Given the description of an element on the screen output the (x, y) to click on. 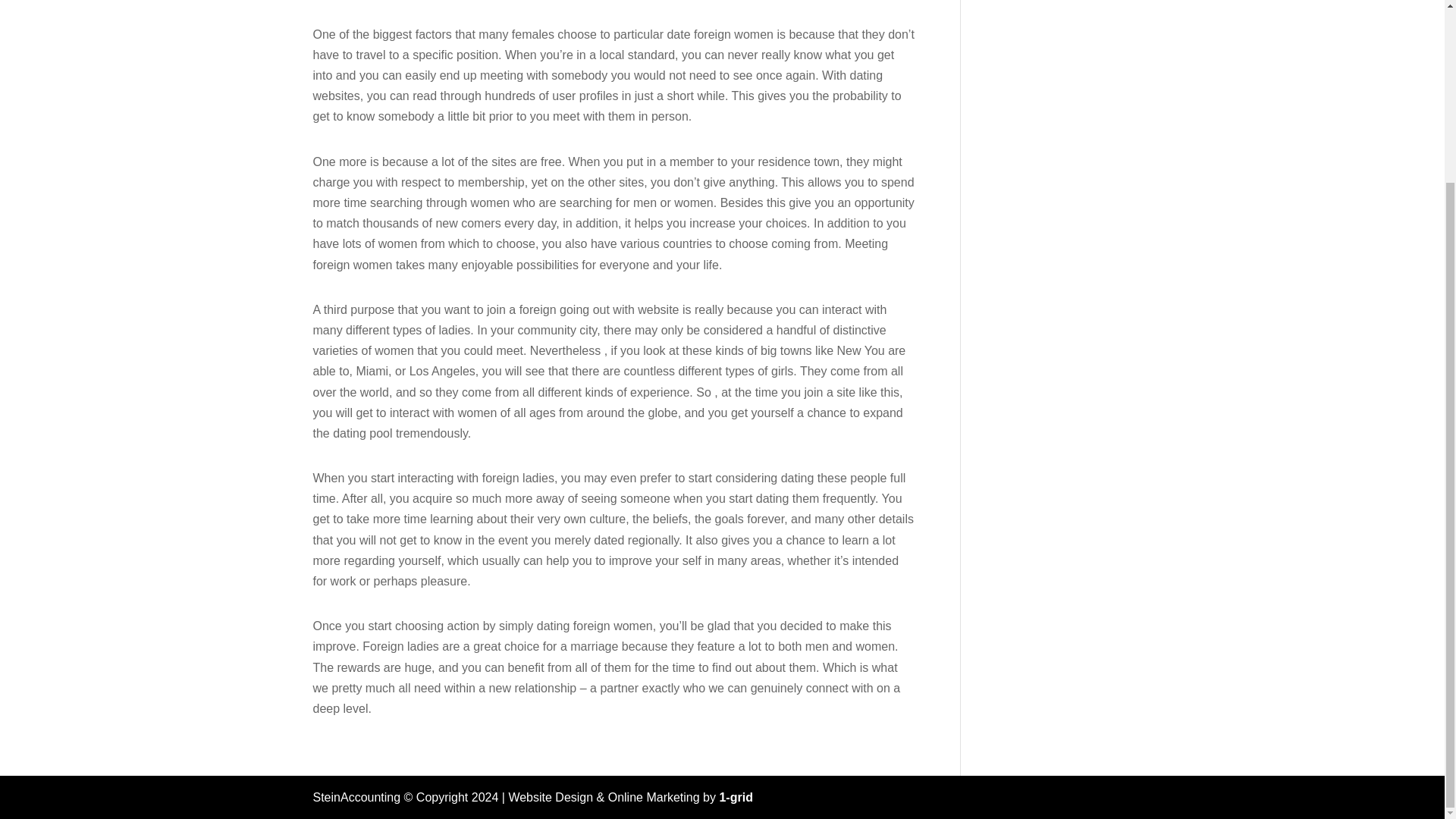
1-grid (735, 797)
